Given the description of an element on the screen output the (x, y) to click on. 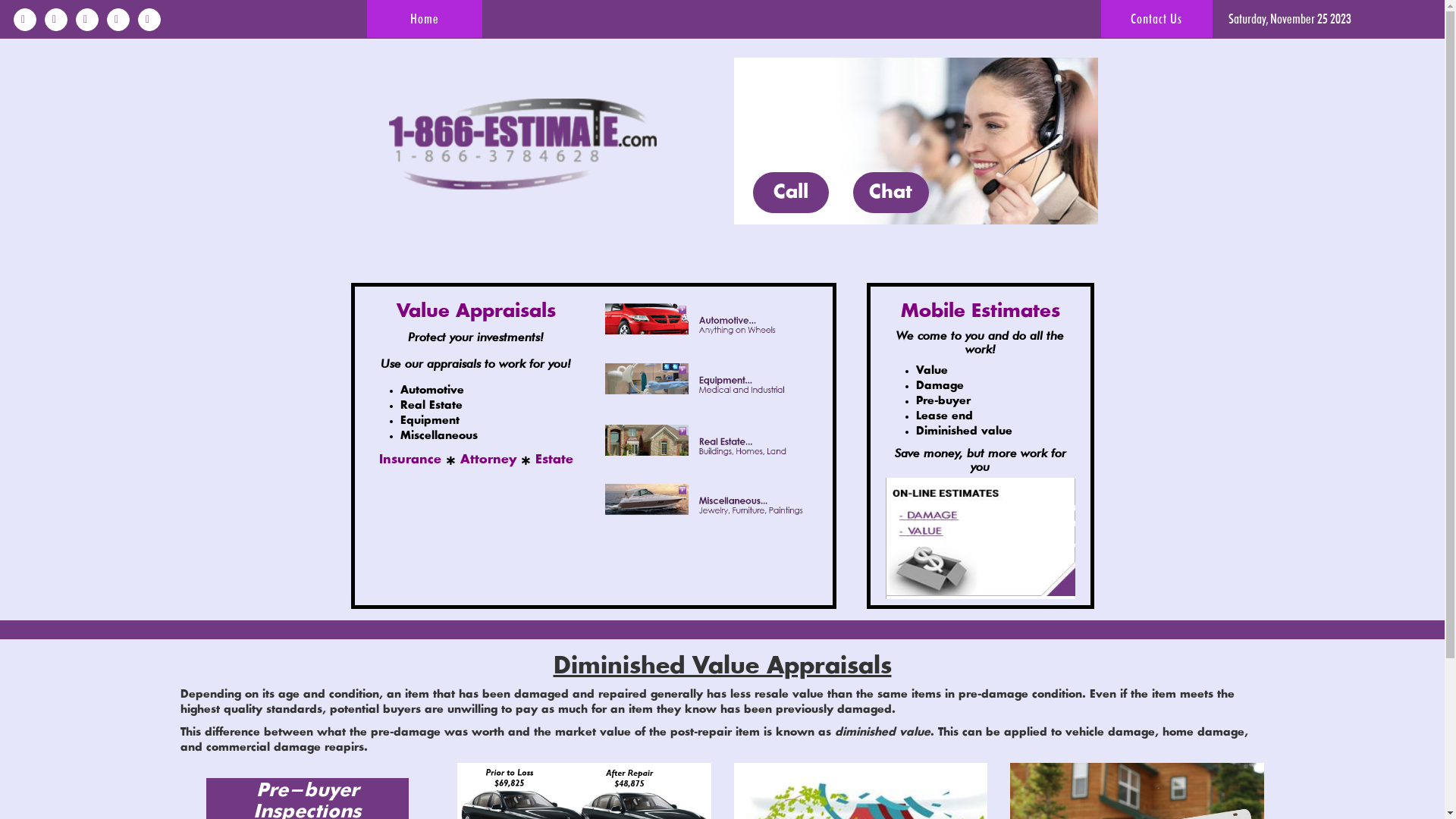
Home Element type: text (424, 18)
Call Element type: text (790, 192)
Chat Element type: text (890, 192)
Contact Us Element type: text (1156, 18)
